Given the description of an element on the screen output the (x, y) to click on. 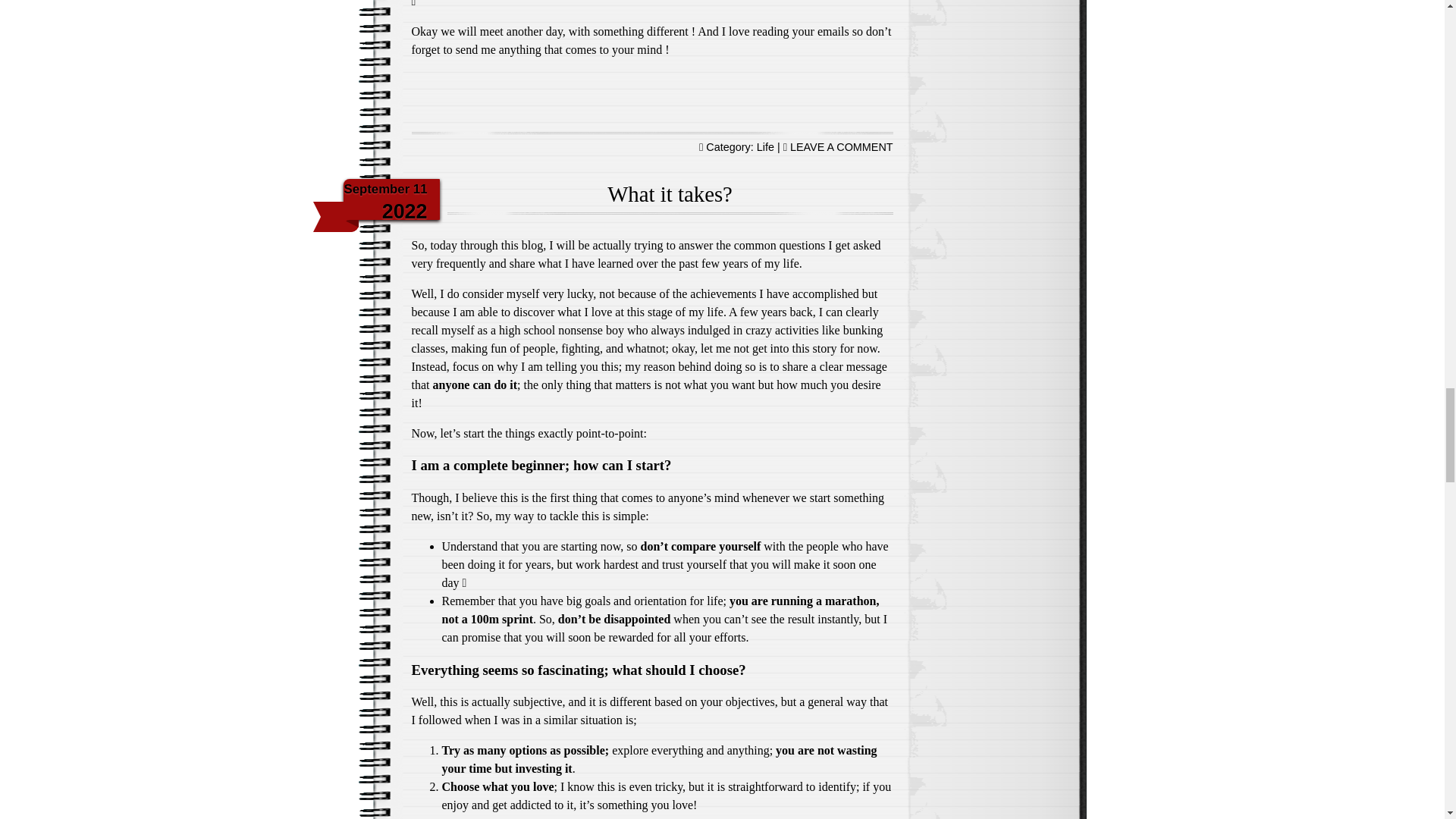
Permanent Link to What it takes? (669, 193)
What it takes? (669, 193)
LEAVE A COMMENT (841, 146)
Life (765, 146)
